Given the description of an element on the screen output the (x, y) to click on. 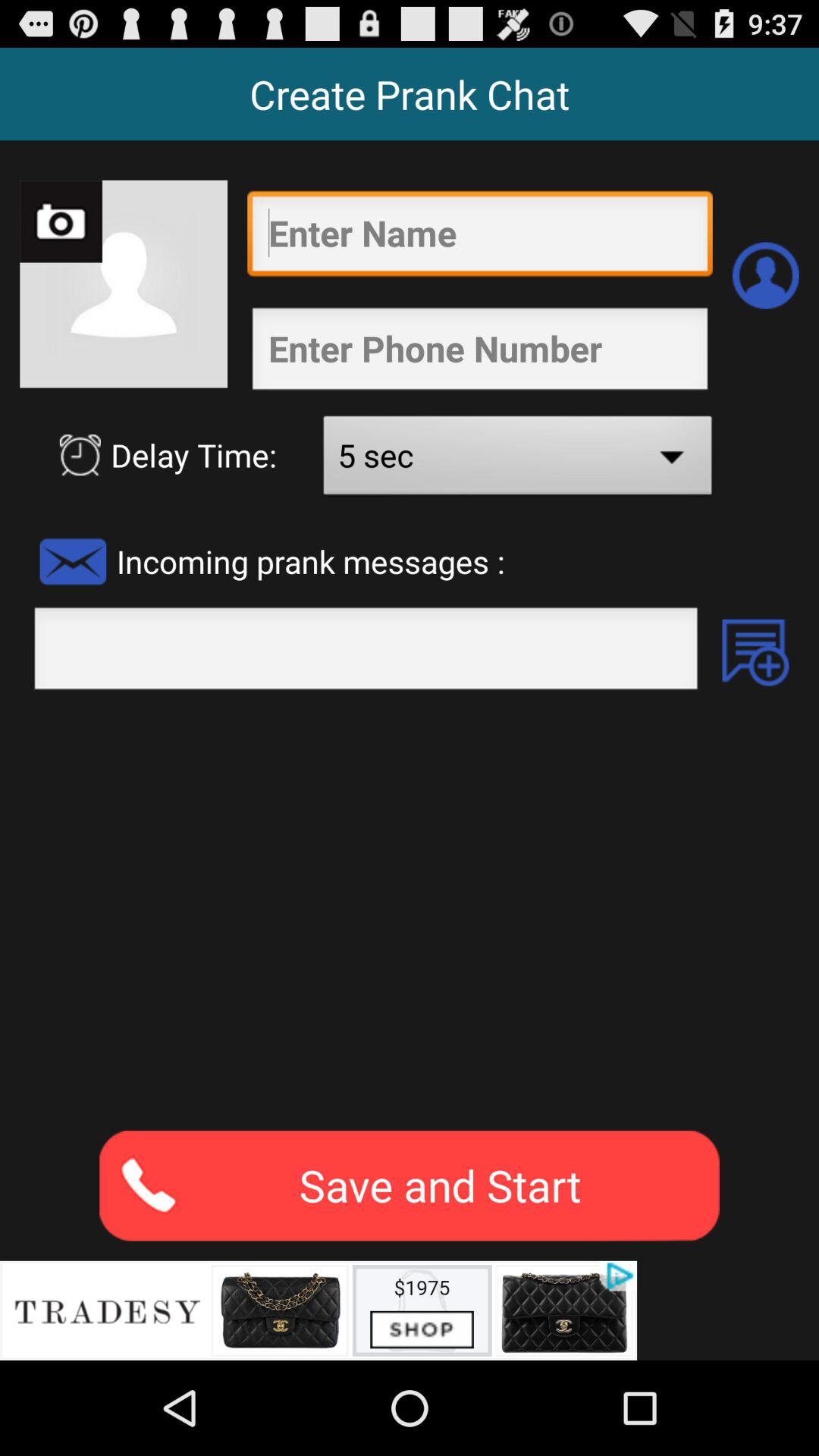
add more file (755, 652)
